Given the description of an element on the screen output the (x, y) to click on. 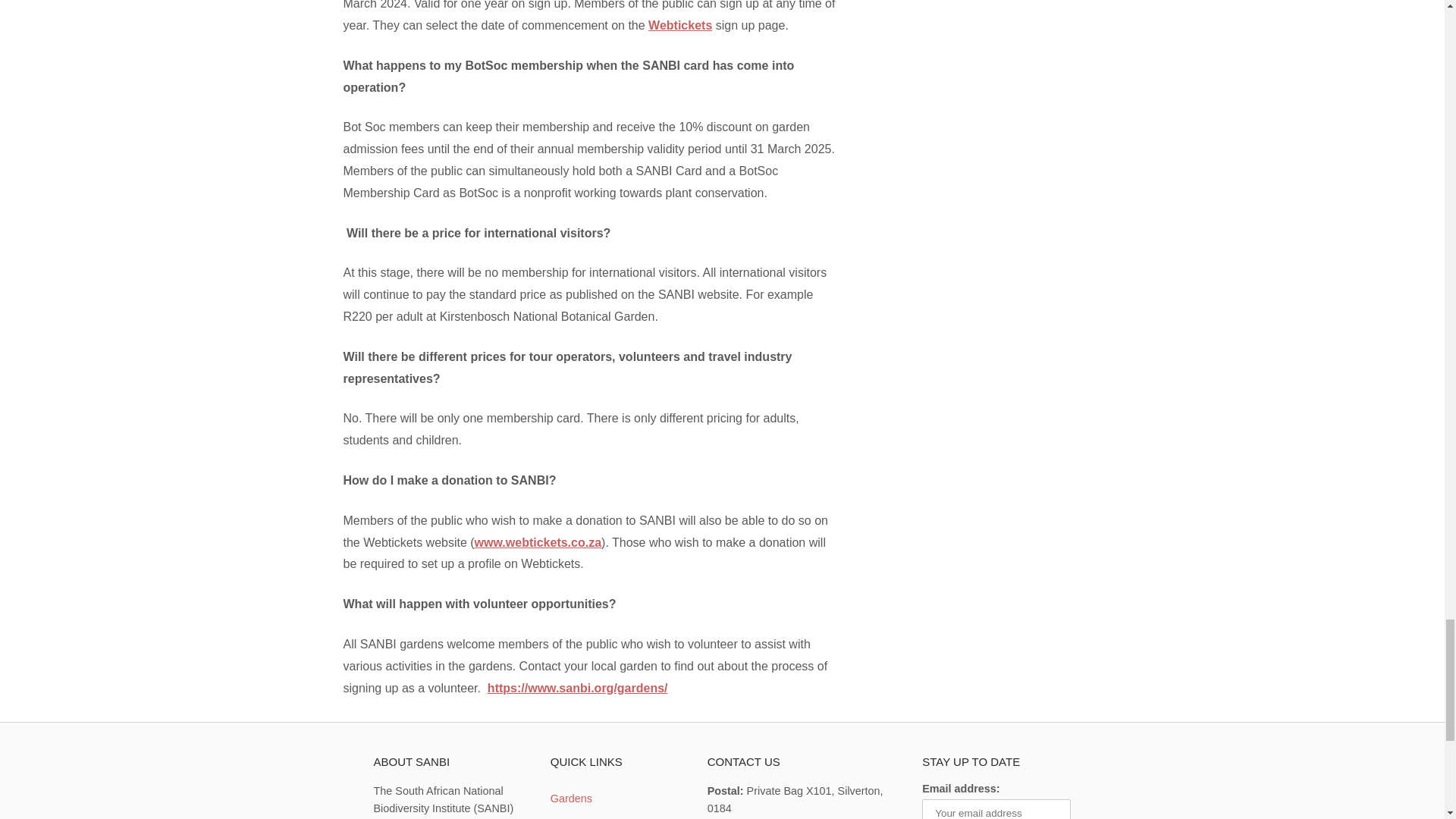
Webtickets (679, 24)
www.webtickets.co.za (537, 542)
